Given the description of an element on the screen output the (x, y) to click on. 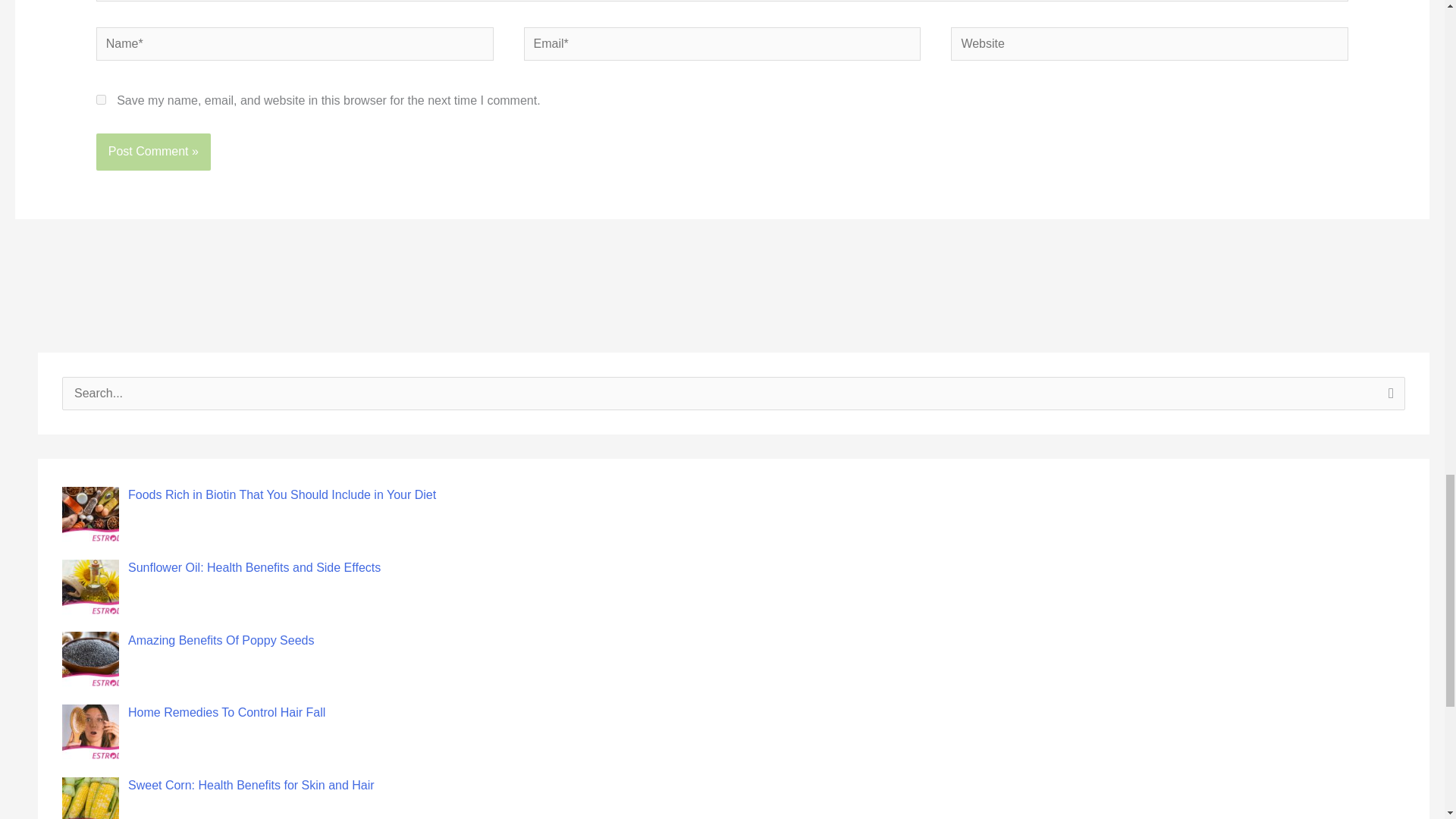
Sweet Corn: Health Benefits for Skin and Hair (251, 784)
Amazing Benefits Of Poppy Seeds (221, 640)
Foods Rich in Biotin That You Should Include in Your Diet (281, 494)
Search (1388, 397)
Search (1388, 397)
Search (1388, 397)
Home Remedies To Control Hair Fall (226, 712)
yes (101, 99)
Sunflower Oil: Health Benefits and Side Effects (254, 567)
